Given the description of an element on the screen output the (x, y) to click on. 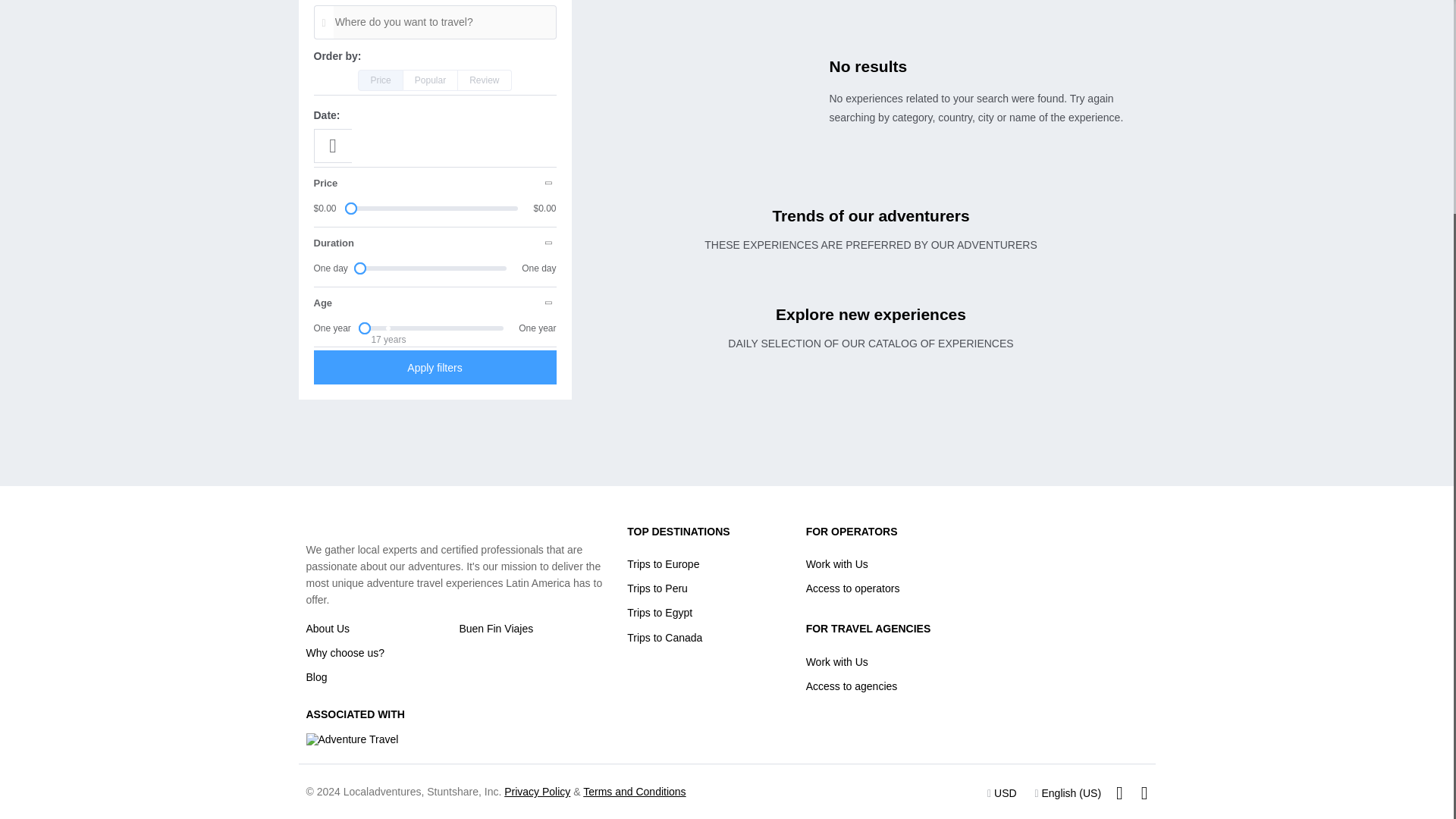
Adventure Travel (351, 739)
LocalAdventures (347, 524)
